Given the description of an element on the screen output the (x, y) to click on. 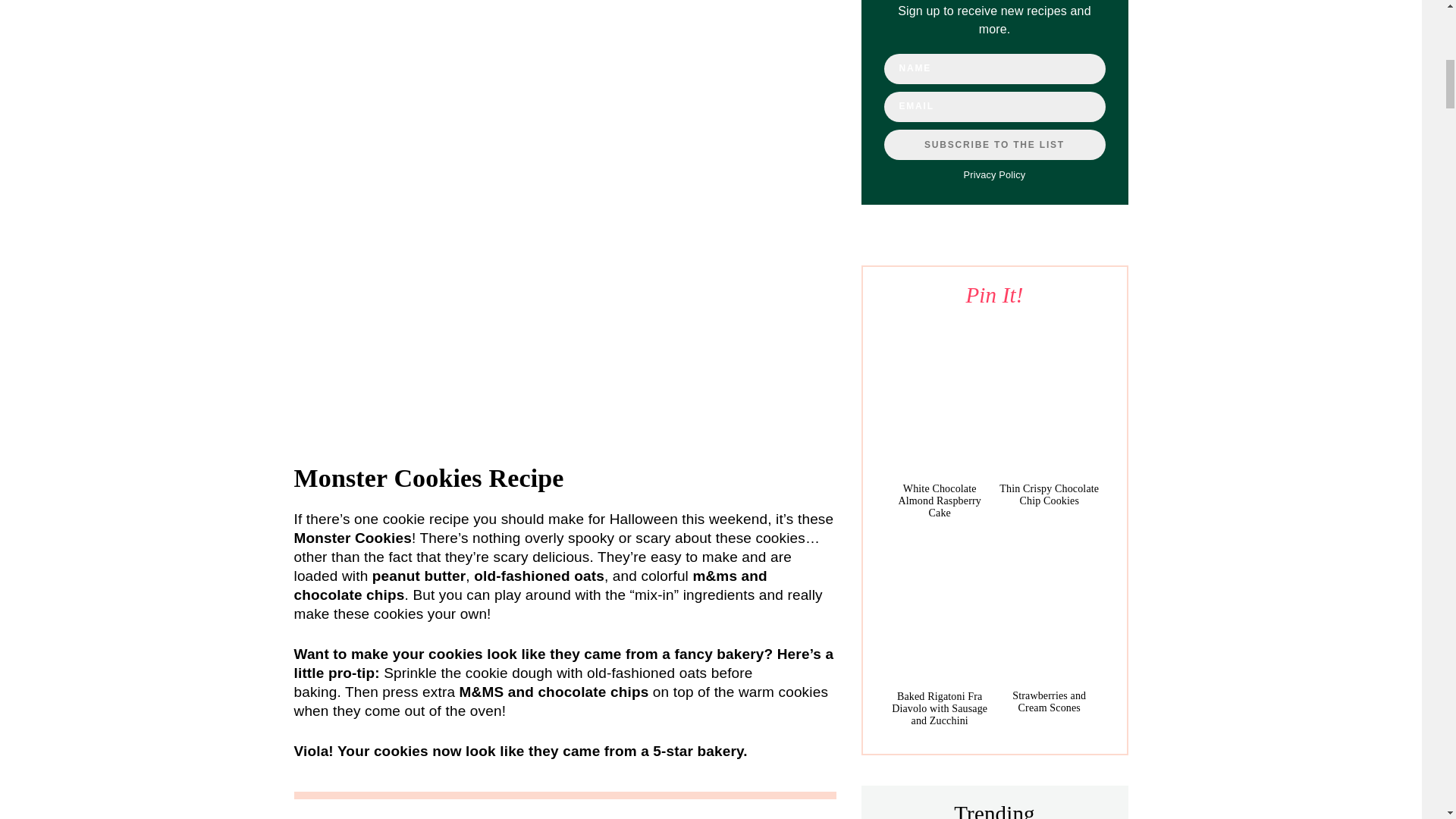
White Chocolate Almond Raspberry Cake (939, 399)
Thin Crispy Chocolate Chip Cookies (1048, 399)
Thin Crispy Chocolate Chip Cookies (1048, 494)
Subscribe to the List (994, 144)
White Chocolate Almond Raspberry Cake (939, 500)
Baked Rigatoni Fra Diavolo with Sausage and Zucchini (939, 606)
Baked Rigatoni Fra Diavolo with Sausage and Zucchini (939, 708)
